Given the description of an element on the screen output the (x, y) to click on. 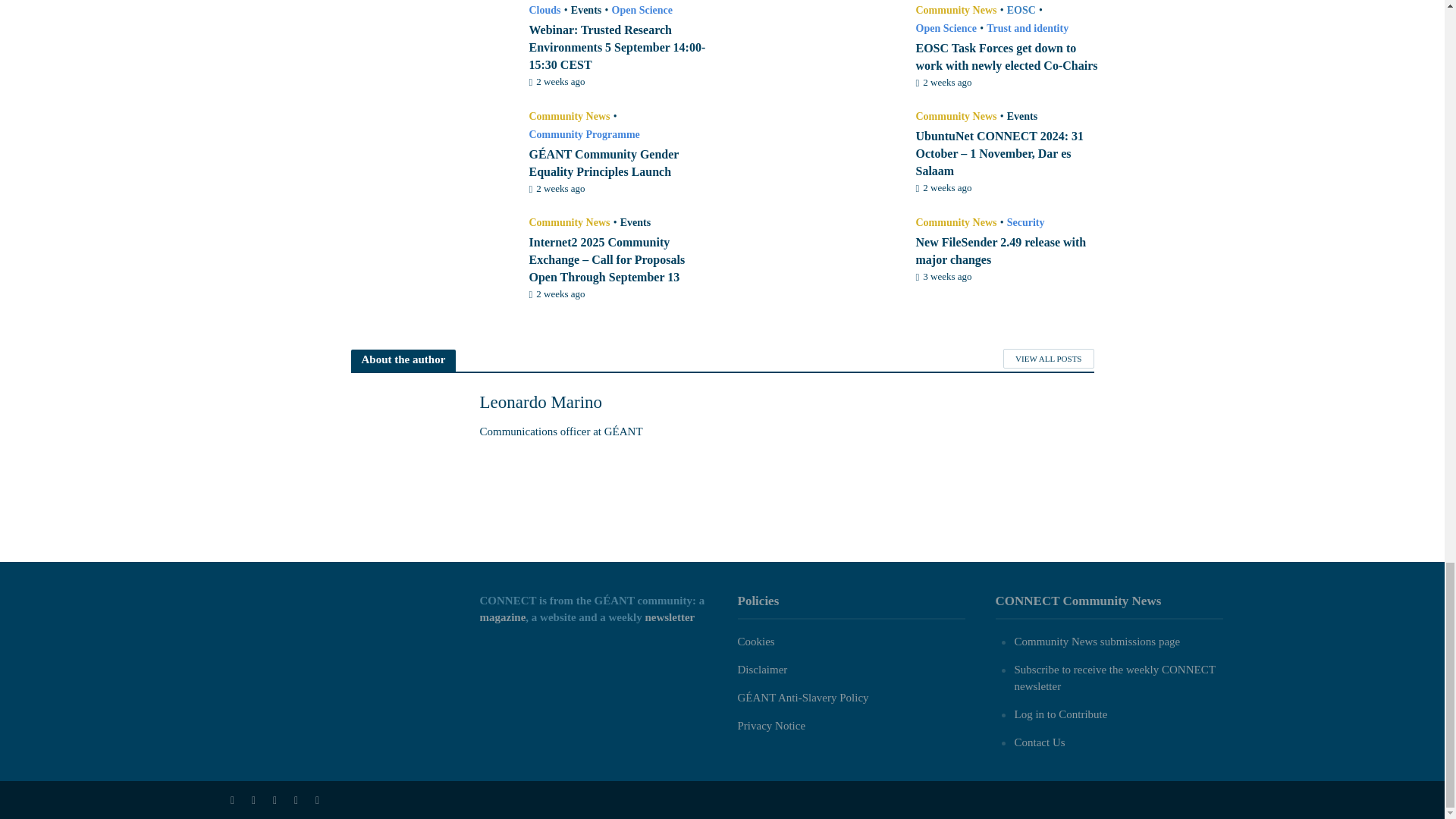
Disclaimer (761, 669)
Privacy Notice (770, 725)
Cookies (755, 641)
New FileSender 2.49 release with major changes (817, 256)
